Given the description of an element on the screen output the (x, y) to click on. 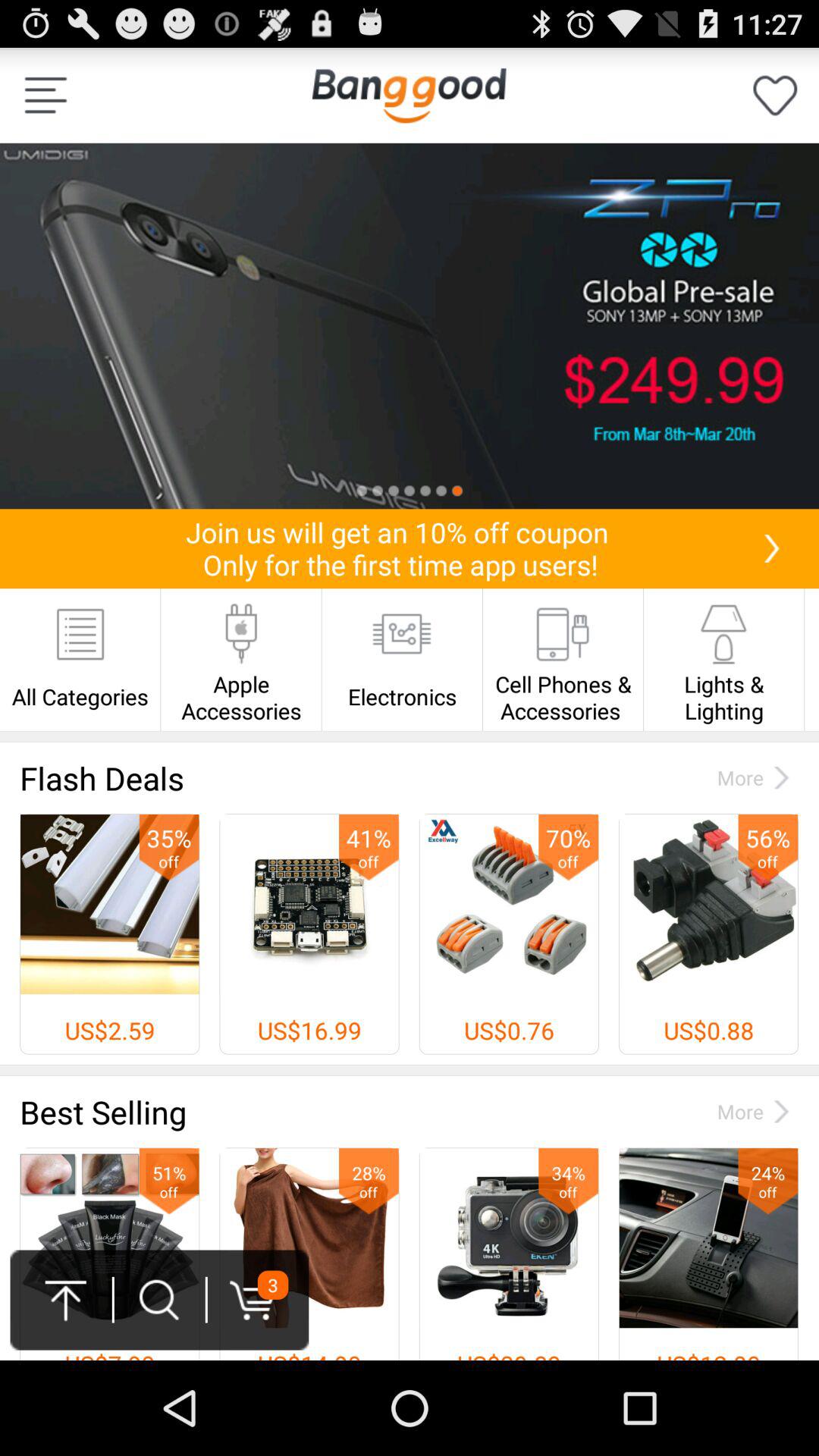
bang good home link (409, 95)
